Given the description of an element on the screen output the (x, y) to click on. 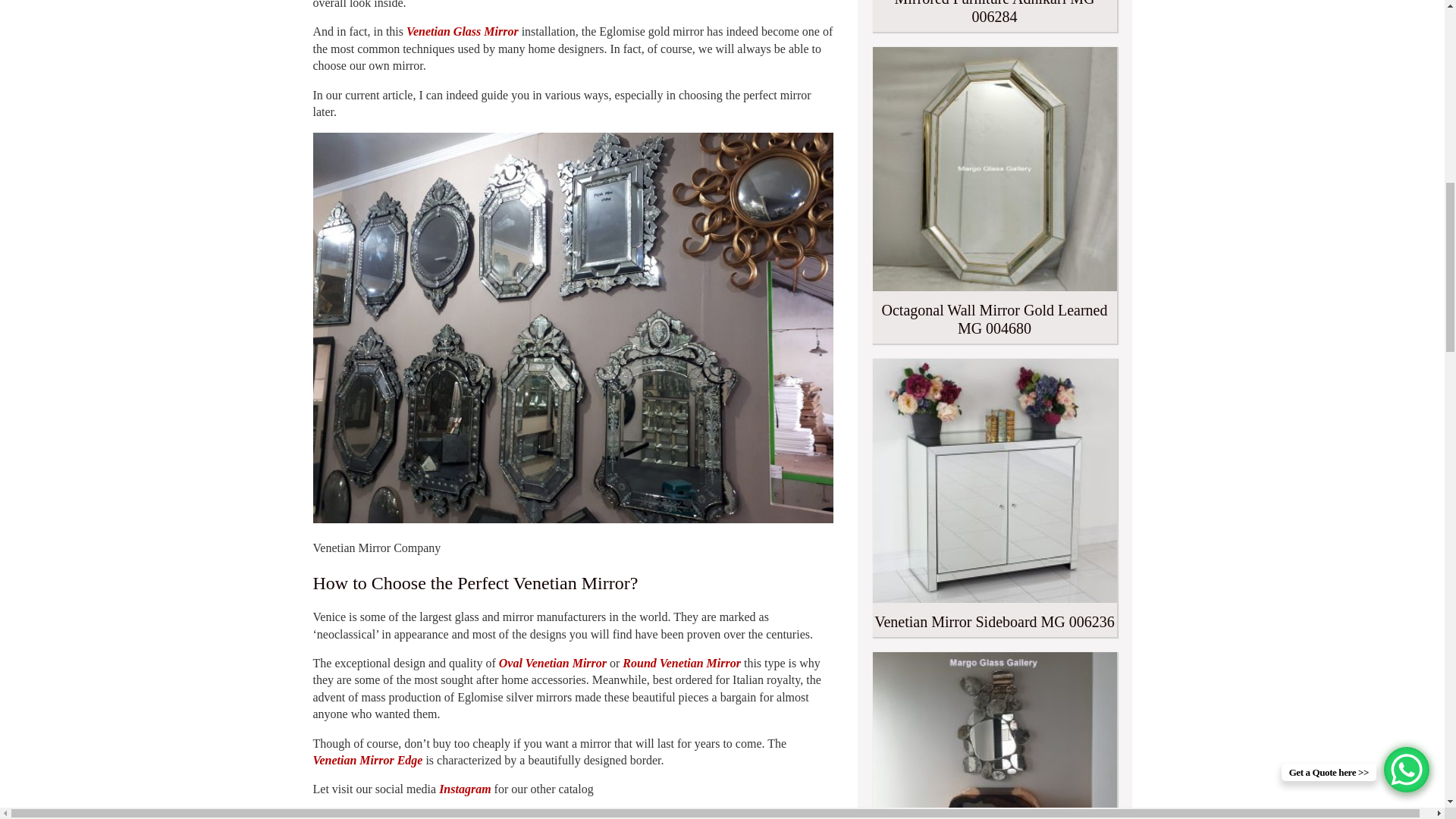
Round Venetian Mirror (682, 662)
Bubble Modern Wall Mirror MG 004776 (994, 735)
Venetian Glass Mirror (462, 31)
Instagram (464, 788)
Venetian Mirror Edge (367, 759)
Mirrored Furniture Adhikari MG 006284 (994, 15)
Oval Venetian Mirror (553, 662)
